Given the description of an element on the screen output the (x, y) to click on. 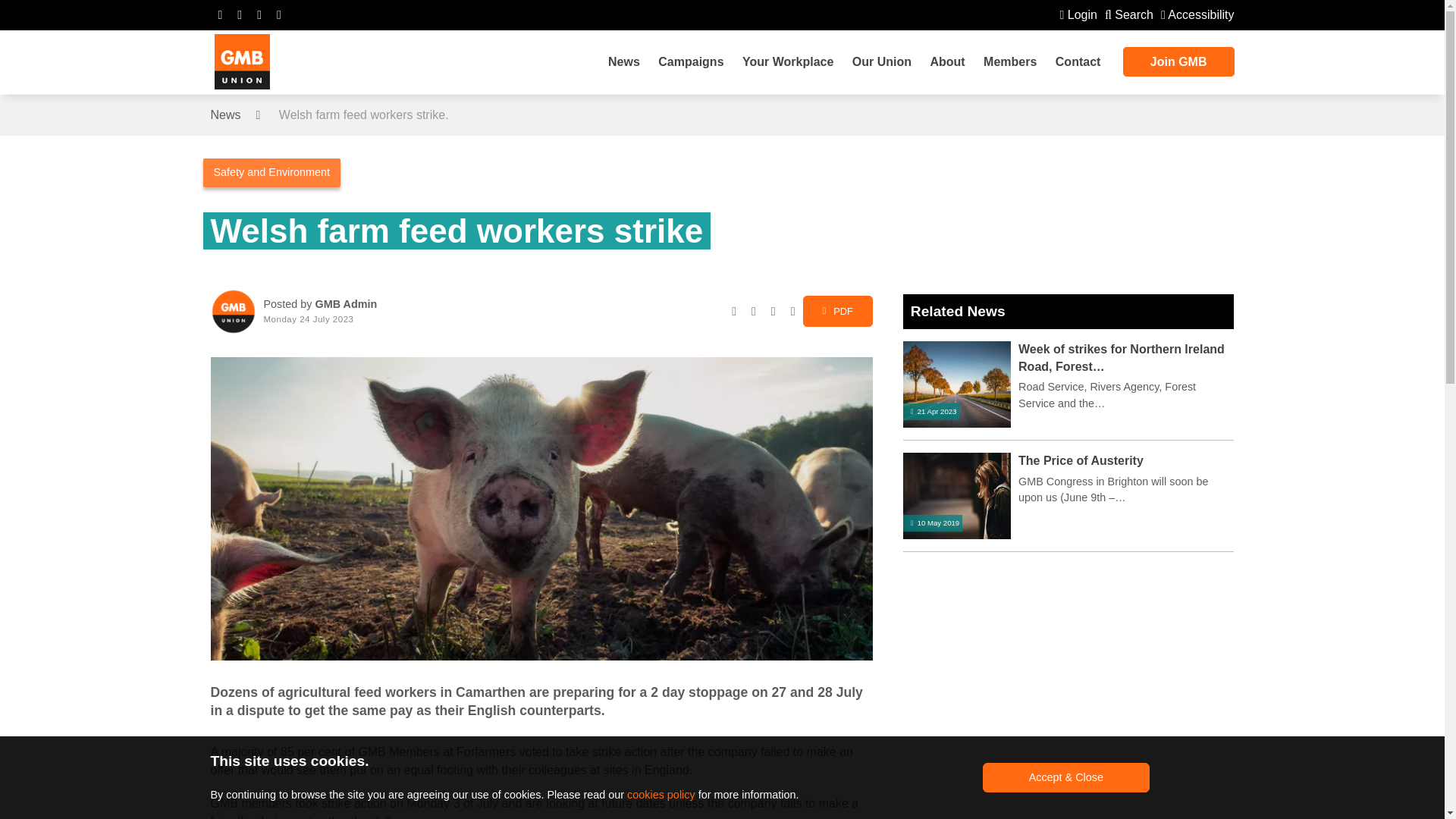
our cookies policy (661, 794)
Search (1129, 14)
Your Workplace (788, 62)
Login (1077, 14)
Accessibility (1197, 14)
Campaigns (690, 62)
